Given the description of an element on the screen output the (x, y) to click on. 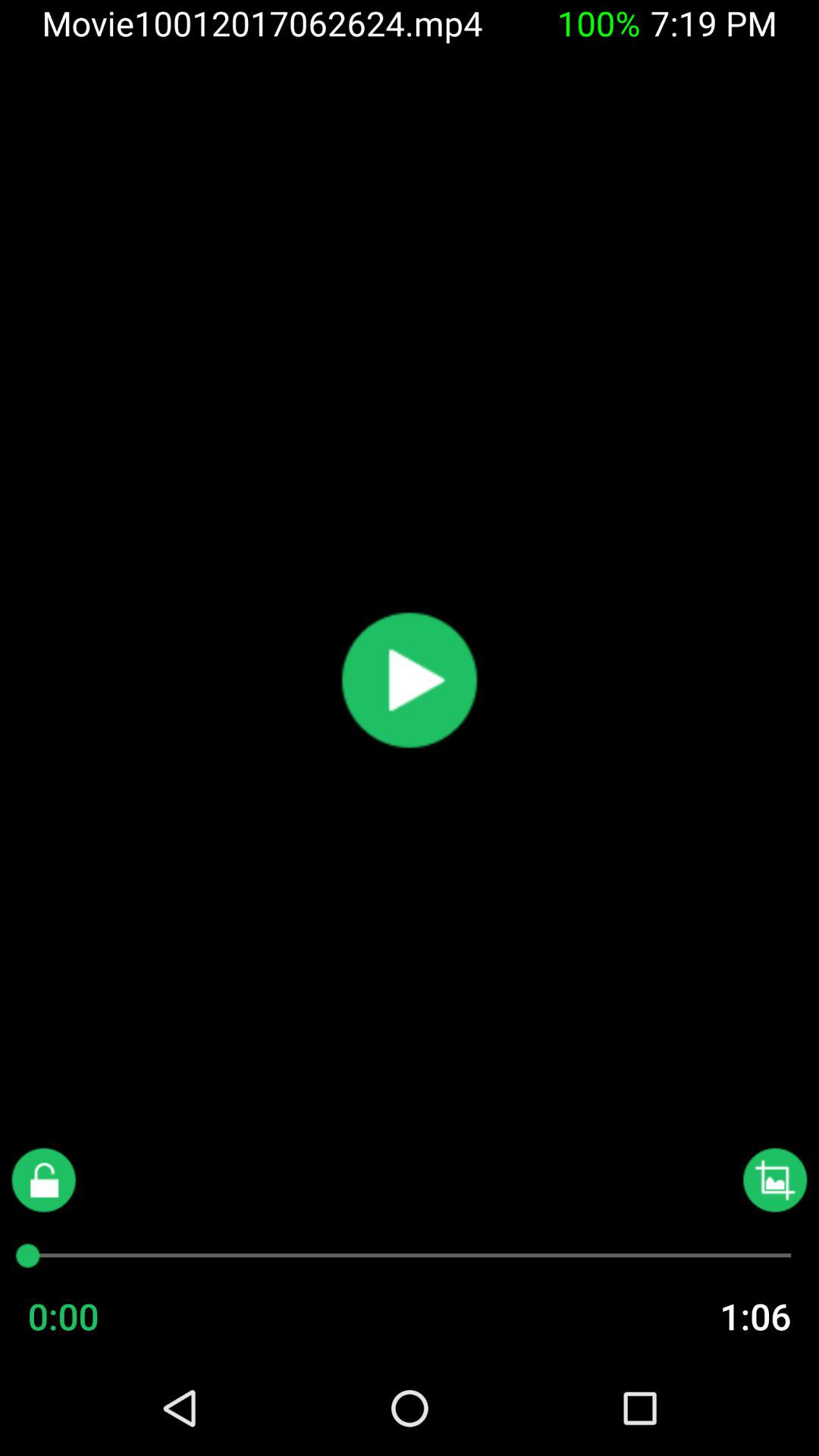
toggle lock/unluck (43, 1179)
